Given the description of an element on the screen output the (x, y) to click on. 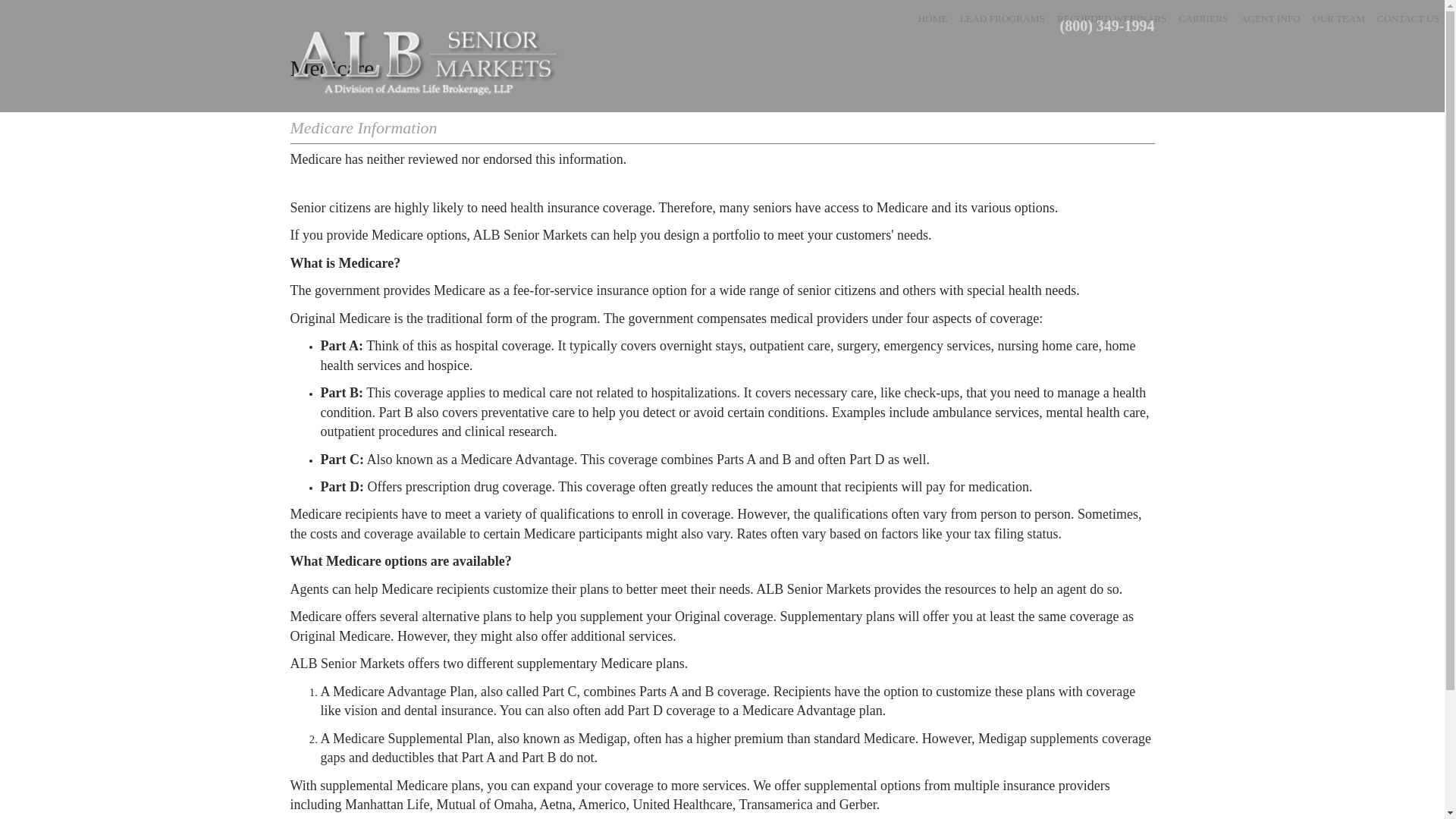
AGENT INFO (1270, 17)
CARRIERS (1203, 17)
RECORDED WEBINARS (1111, 17)
HOME (932, 17)
LEAD PROGRAMS (1002, 17)
OUR TEAM (1338, 17)
